Given the description of an element on the screen output the (x, y) to click on. 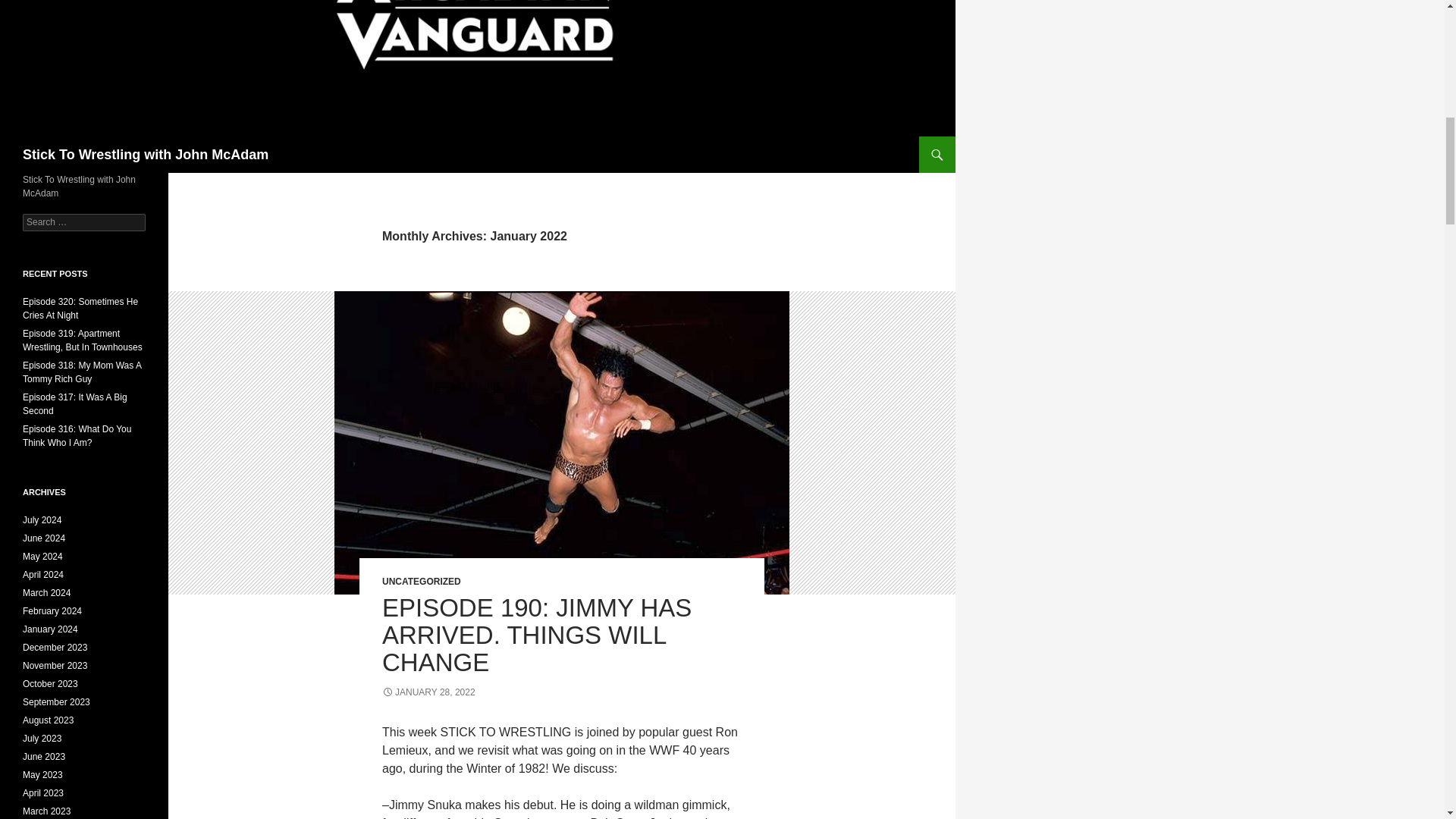
JANUARY 28, 2022 (428, 692)
EPISODE 190: JIMMY HAS ARRIVED. THINGS WILL CHANGE (536, 634)
Stick To Wrestling with John McAdam (145, 154)
UNCATEGORIZED (421, 581)
